Given the description of an element on the screen output the (x, y) to click on. 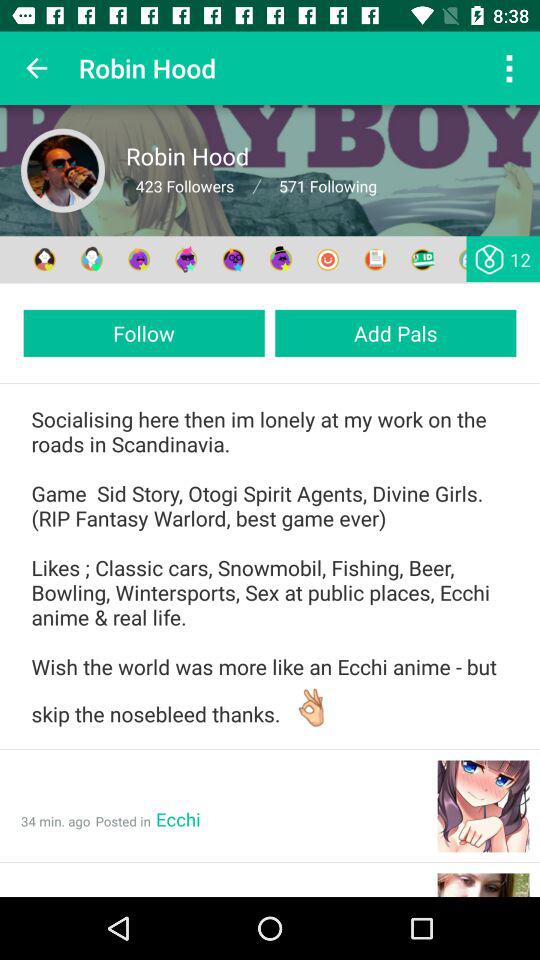
turn off icon next to the follow item (395, 332)
